Given the description of an element on the screen output the (x, y) to click on. 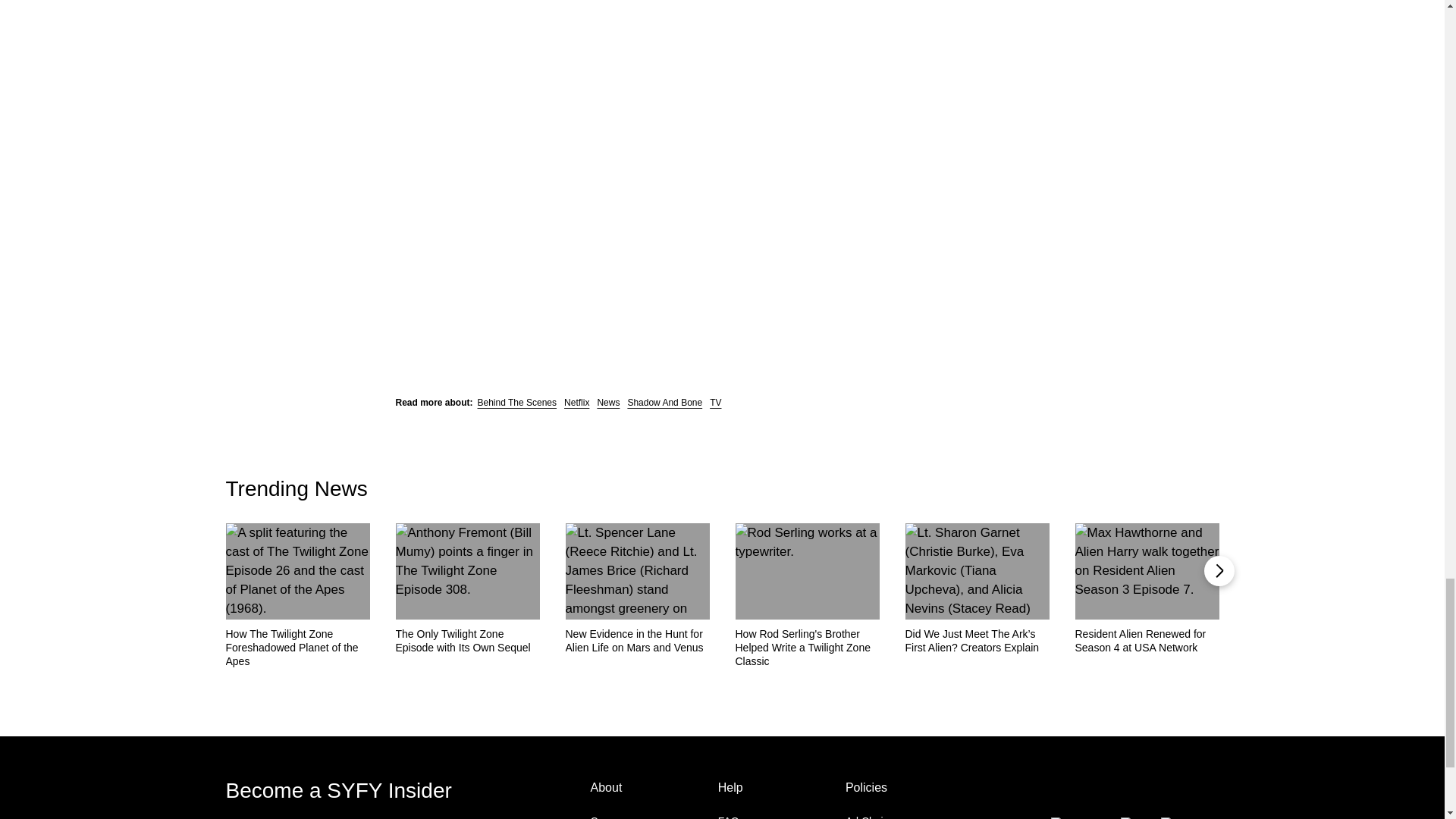
How The Twilight Zone Foreshadowed Planet of the Apes (297, 647)
News (608, 402)
Shadow And Bone (664, 402)
Netflix (576, 402)
New Evidence in the Hunt for Alien Life on Mars and Venus (638, 640)
The Only Twilight Zone Episode with Its Own Sequel (468, 640)
Behind The Scenes (517, 402)
TV (715, 402)
